Given the description of an element on the screen output the (x, y) to click on. 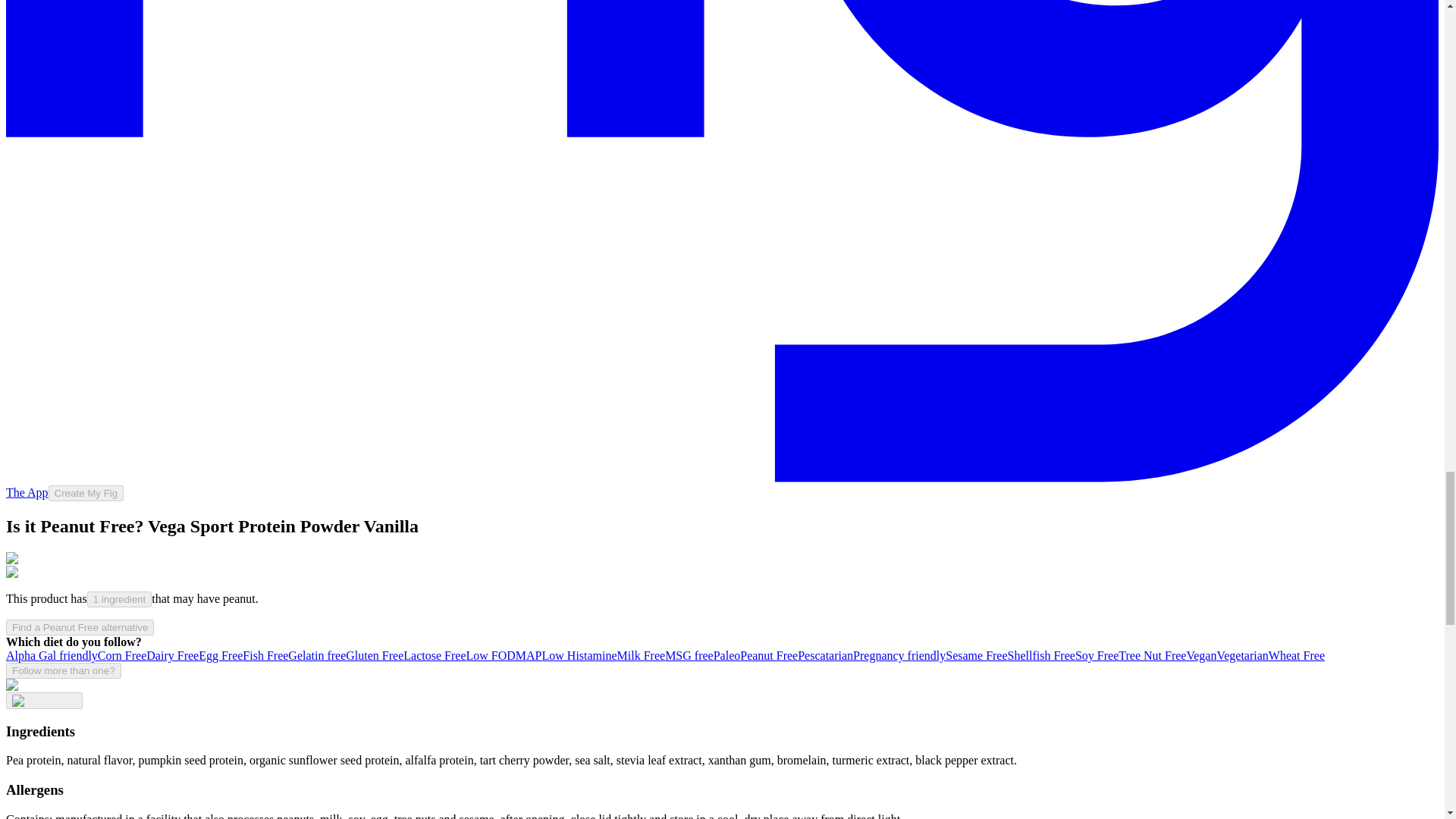
The App (26, 492)
Milk Free (641, 655)
Gelatin free (317, 655)
Dairy Free (172, 655)
MSG free (689, 655)
Fish Free (265, 655)
Create My Fig (85, 493)
Alpha Gal friendly (51, 655)
Find a Peanut Free alternative (79, 627)
Lactose Free (434, 655)
